Given the description of an element on the screen output the (x, y) to click on. 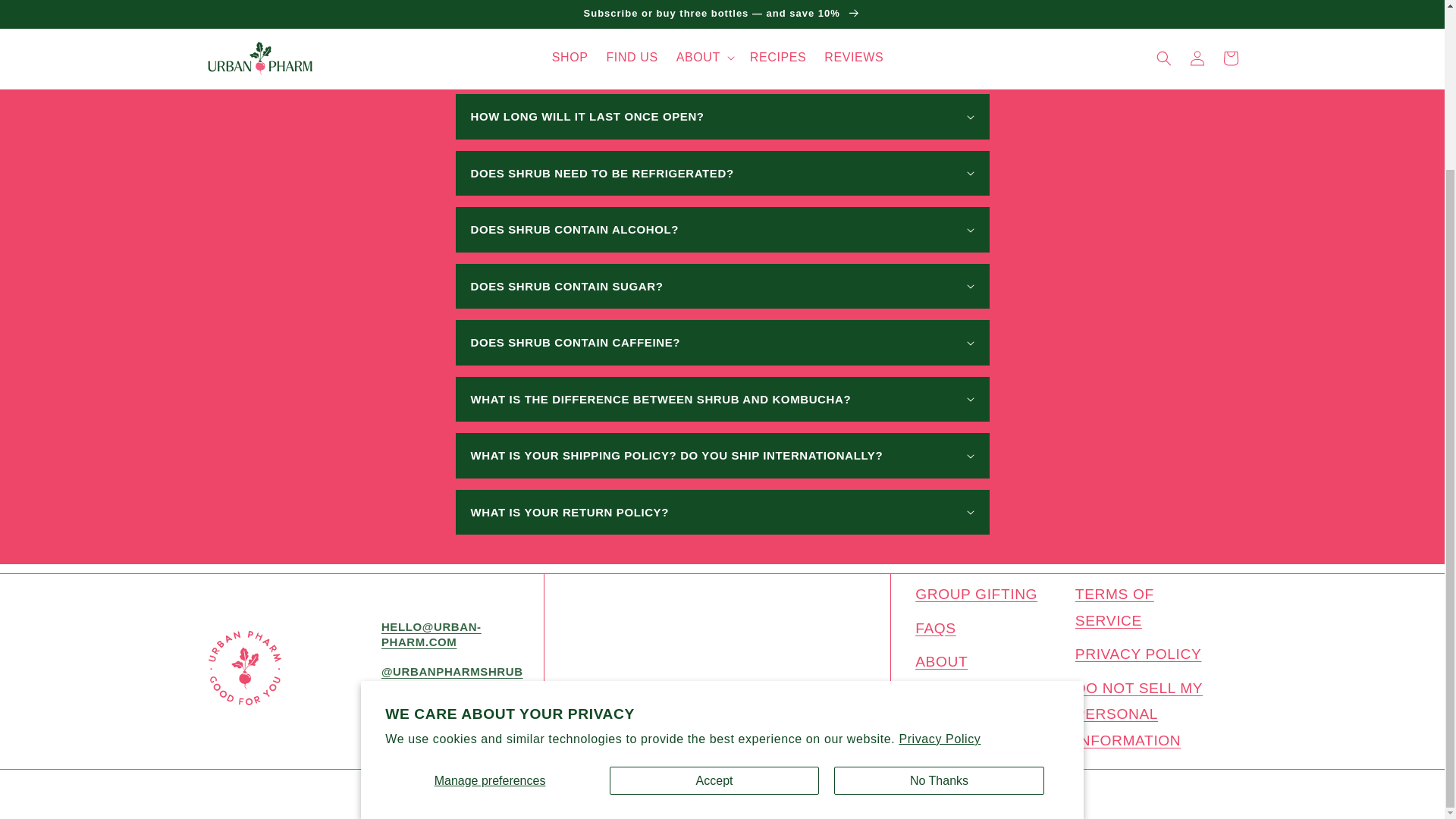
ABOUT (941, 666)
Manage preferences (489, 577)
GROUP GIFTING (975, 598)
Privacy Policy (938, 535)
No Thanks (938, 577)
Accept (714, 577)
FAQS (935, 632)
